Given the description of an element on the screen output the (x, y) to click on. 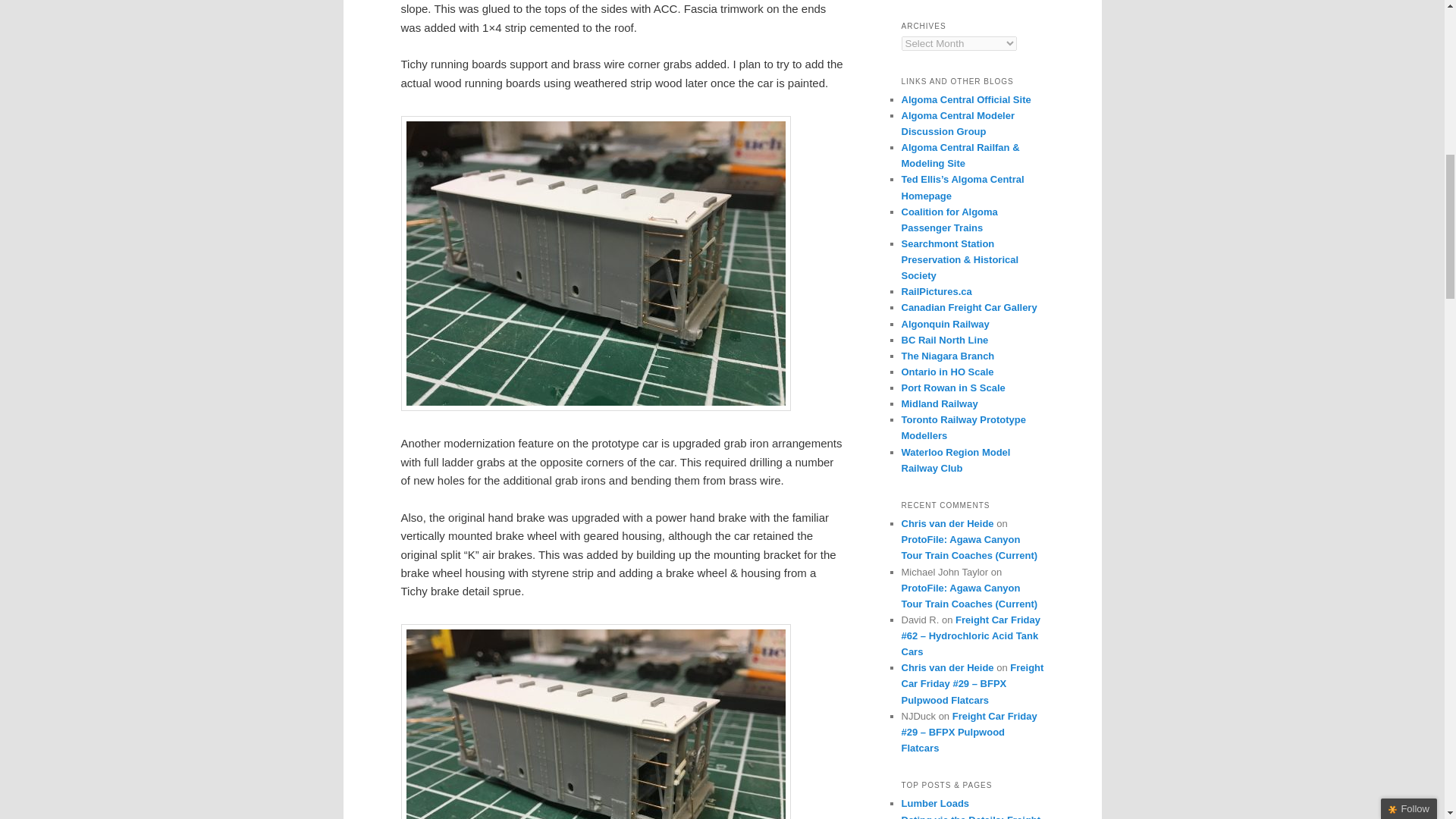
Sign me up! (1349, 153)
Enter email address (1348, 125)
